Given the description of an element on the screen output the (x, y) to click on. 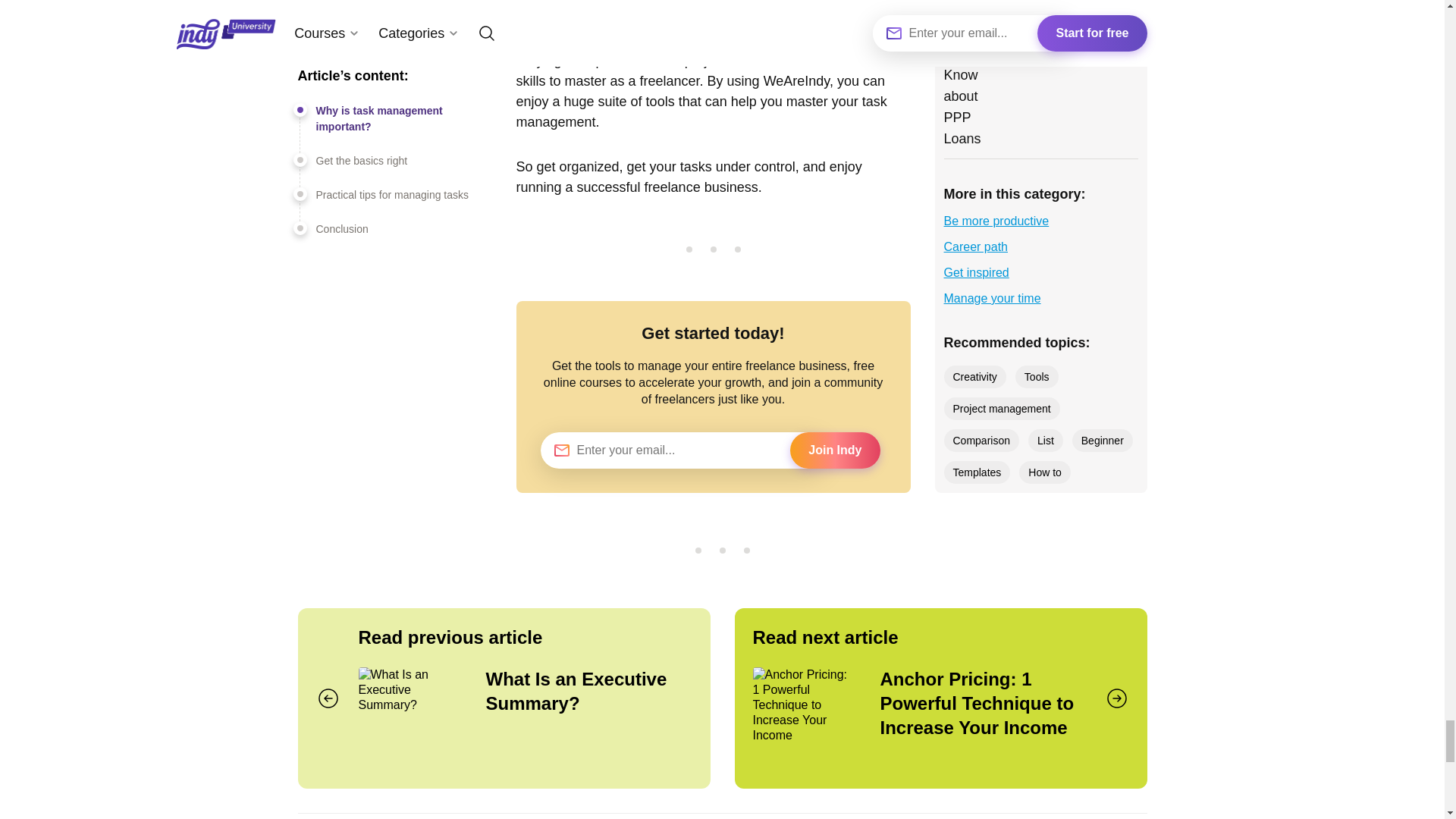
Join Indy (834, 450)
